Given the description of an element on the screen output the (x, y) to click on. 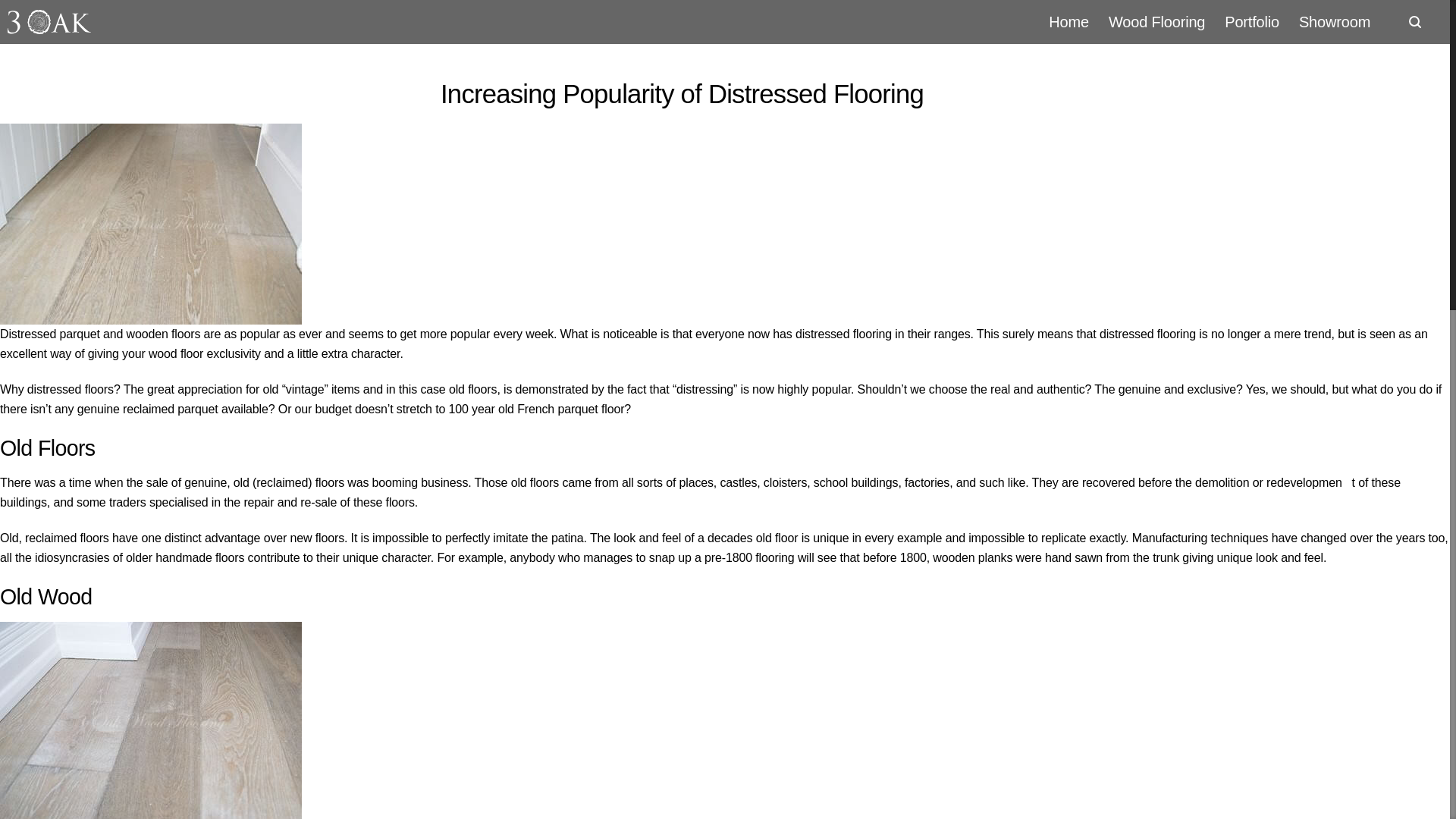
Portfolio (1251, 22)
Showroom (1334, 22)
Portfolio (1251, 22)
Showroom (1334, 22)
Home (1069, 22)
Home (1069, 22)
Wood Flooring (1156, 22)
Wood Flooring (1156, 22)
